Given the description of an element on the screen output the (x, y) to click on. 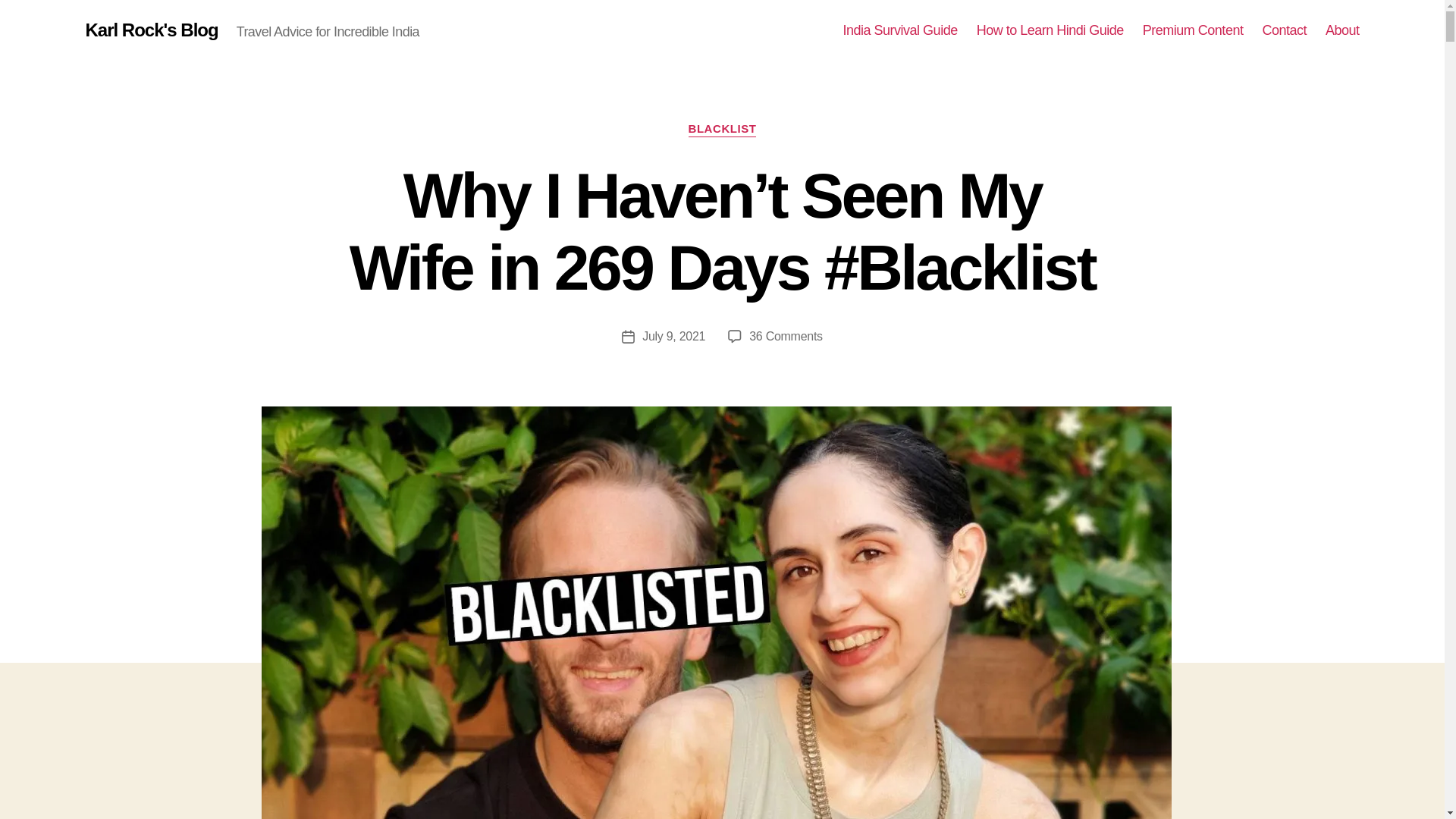
July 9, 2021 (673, 336)
Contact (1284, 30)
Karl Rock's Blog (150, 30)
About (1341, 30)
BLACKLIST (722, 129)
How to Learn Hindi Guide (1050, 30)
Premium Content (1192, 30)
India Survival Guide (900, 30)
